Given the description of an element on the screen output the (x, y) to click on. 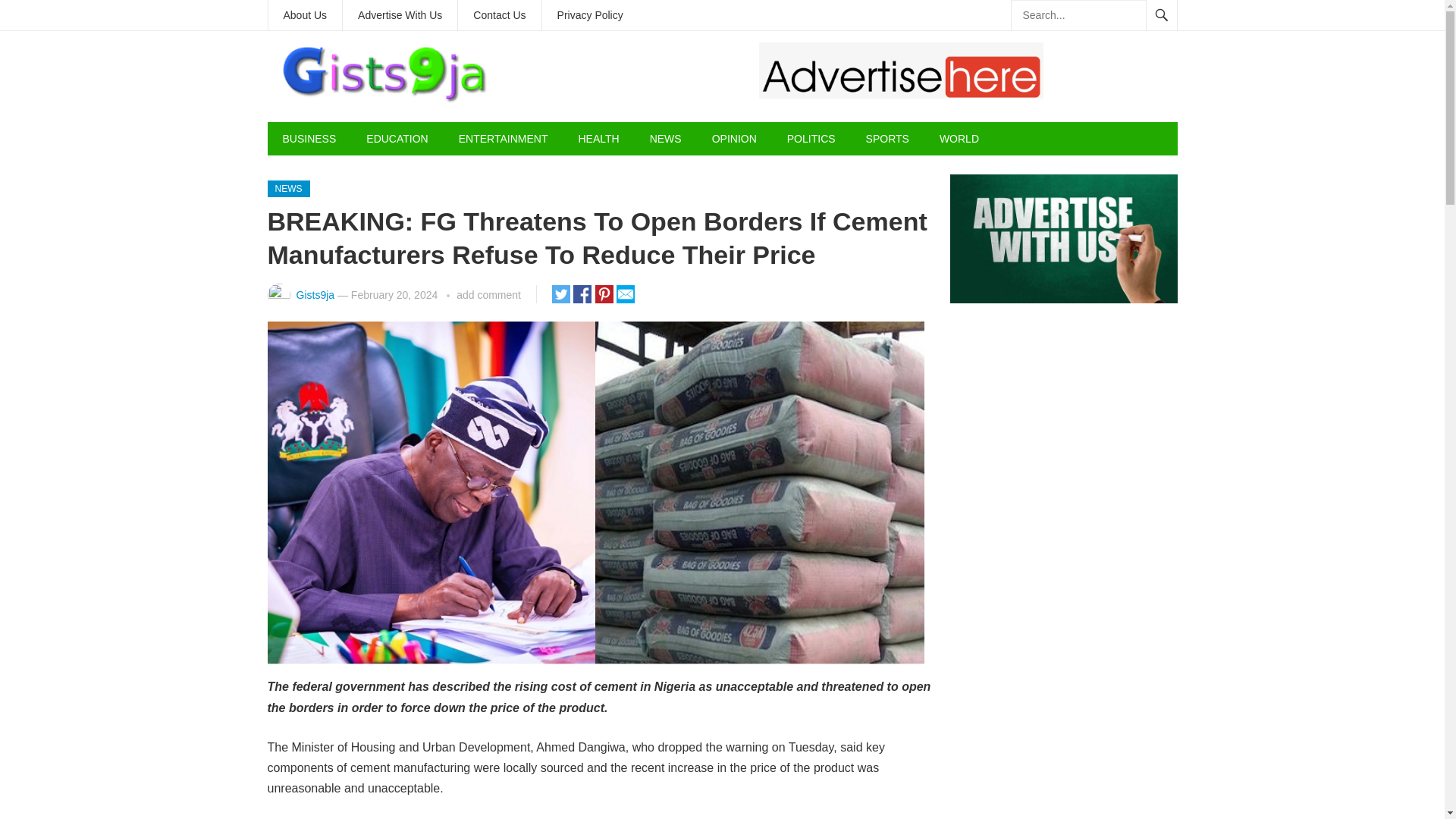
NEWS (287, 188)
WORLD (959, 138)
BUSINESS (308, 138)
Contact Us (499, 15)
SPORTS (887, 138)
add comment (489, 295)
EDUCATION (396, 138)
POLITICS (810, 138)
HEALTH (597, 138)
Gists9ja (314, 295)
